Given the description of an element on the screen output the (x, y) to click on. 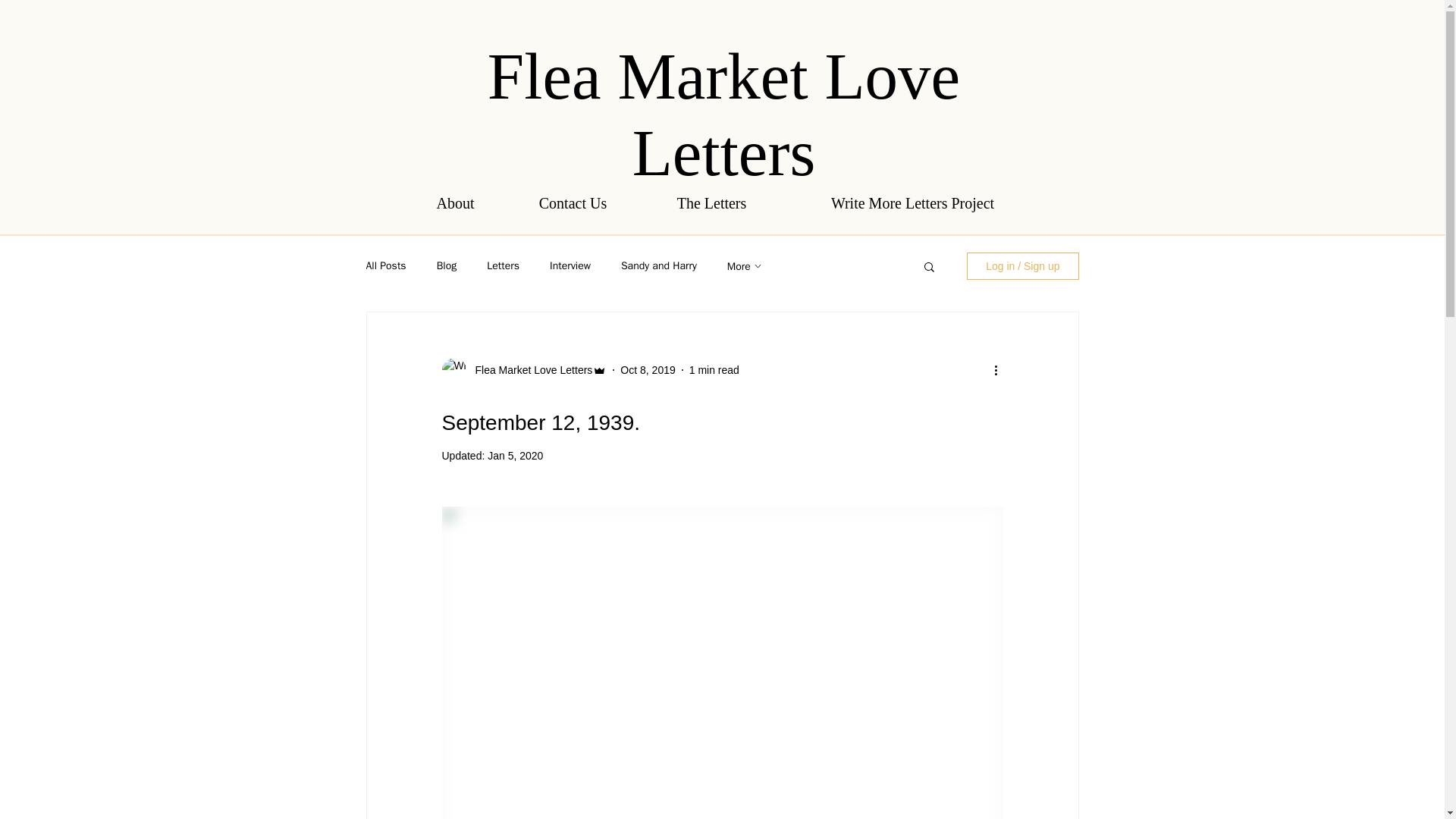
Flea Market Love Letters (723, 114)
Contact Us (573, 202)
The Letters (712, 202)
Jan 5, 2020 (515, 455)
Flea Market Love Letters (528, 370)
1 min read (713, 369)
Oct 8, 2019 (647, 369)
